Given the description of an element on the screen output the (x, y) to click on. 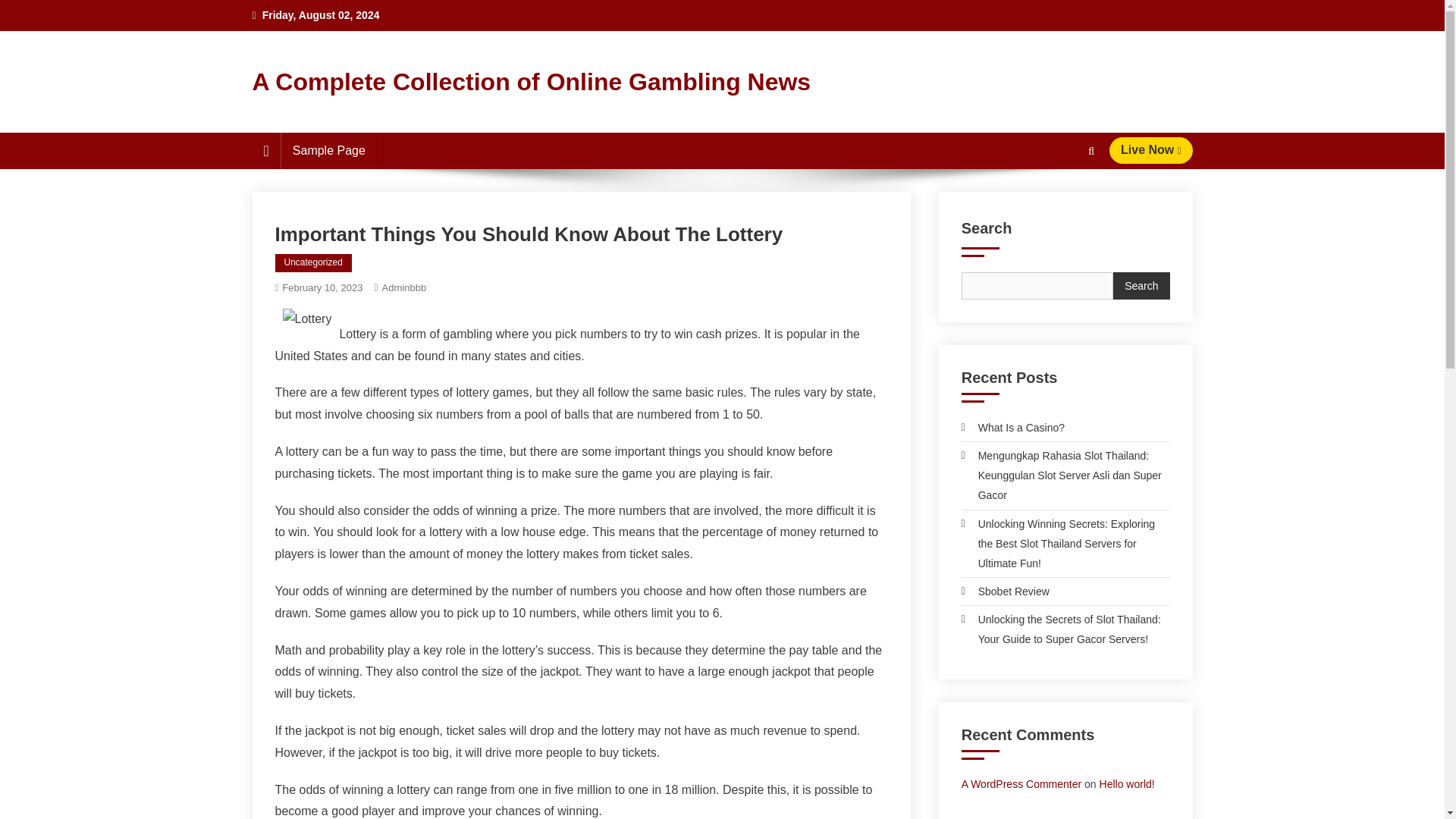
A Complete Collection of Online Gambling News (530, 81)
February 10, 2023 (322, 287)
A WordPress Commenter (1020, 784)
Search (1062, 206)
Live Now (1150, 150)
What Is a Casino? (1012, 427)
Hello world! (1126, 784)
Uncategorized (312, 262)
Sbobet Review (1004, 591)
Adminbbb (403, 287)
Sample Page (329, 150)
Search (1141, 285)
